Given the description of an element on the screen output the (x, y) to click on. 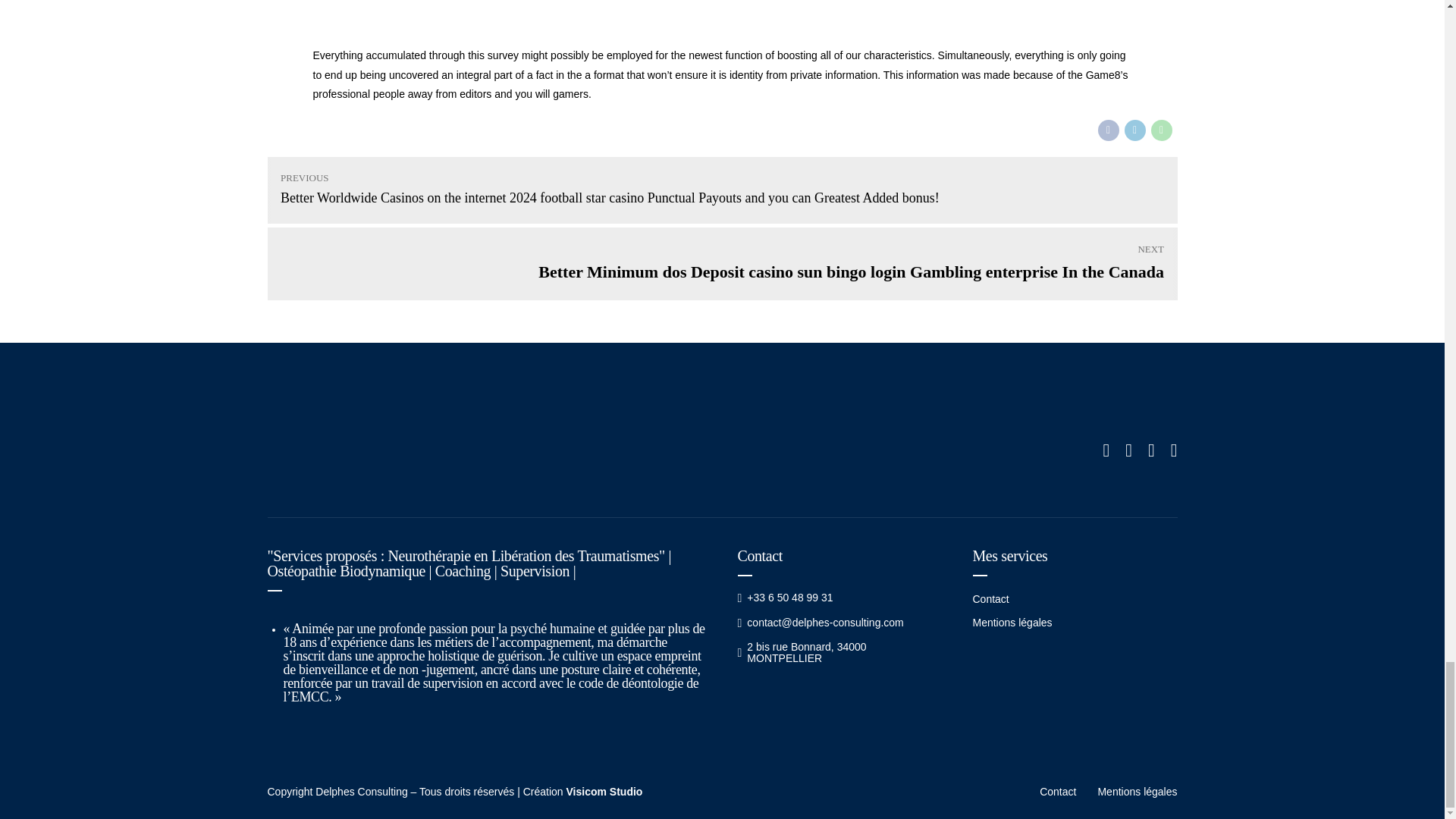
logo-delphes-2 (387, 450)
EMCC (310, 696)
